Given the description of an element on the screen output the (x, y) to click on. 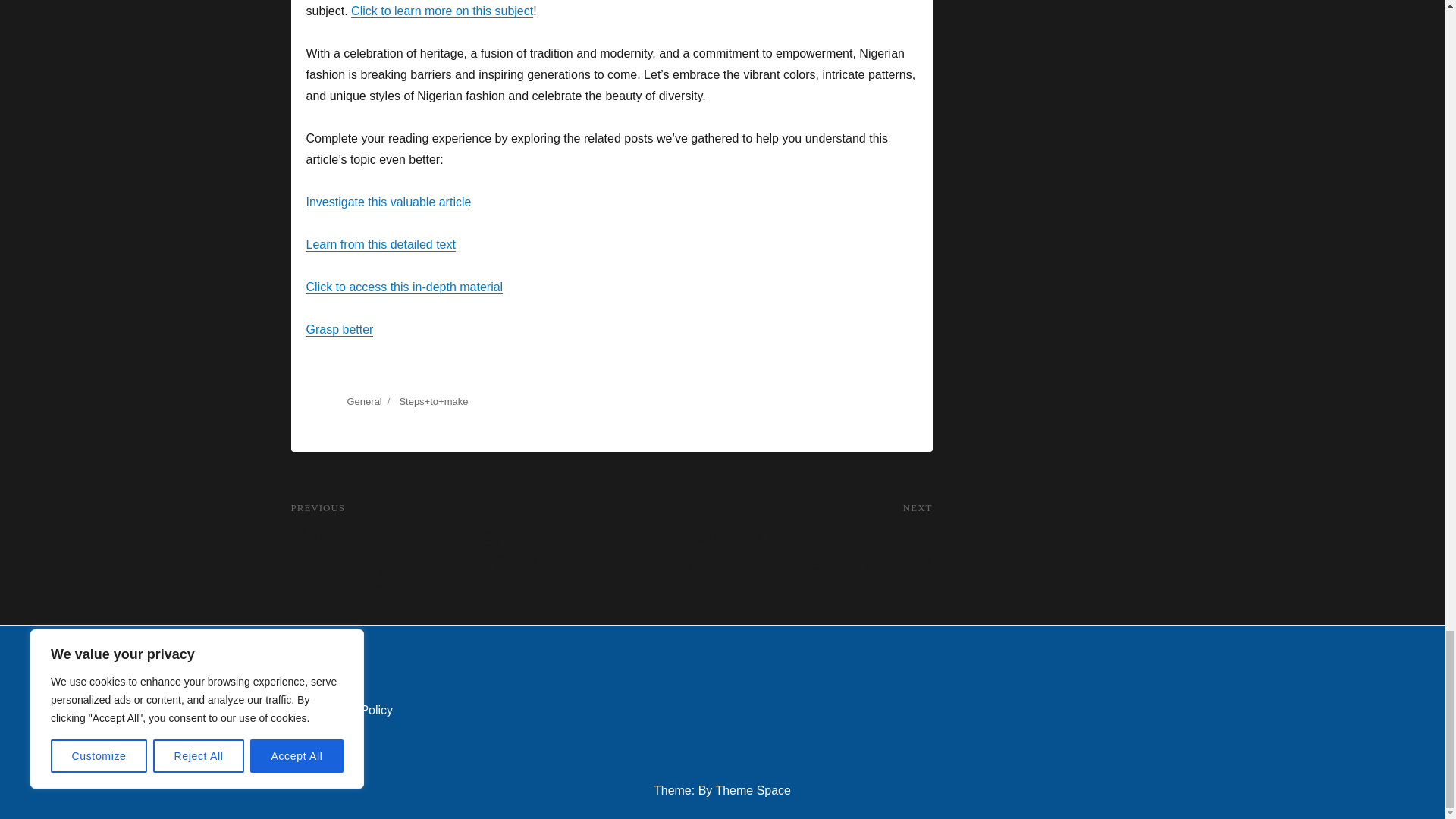
Click to learn more on this subject (441, 10)
Learn from this detailed text (380, 244)
Click to access this in-depth material (404, 286)
General (364, 401)
Grasp better (339, 328)
Investigate this valuable article (388, 201)
